Given the description of an element on the screen output the (x, y) to click on. 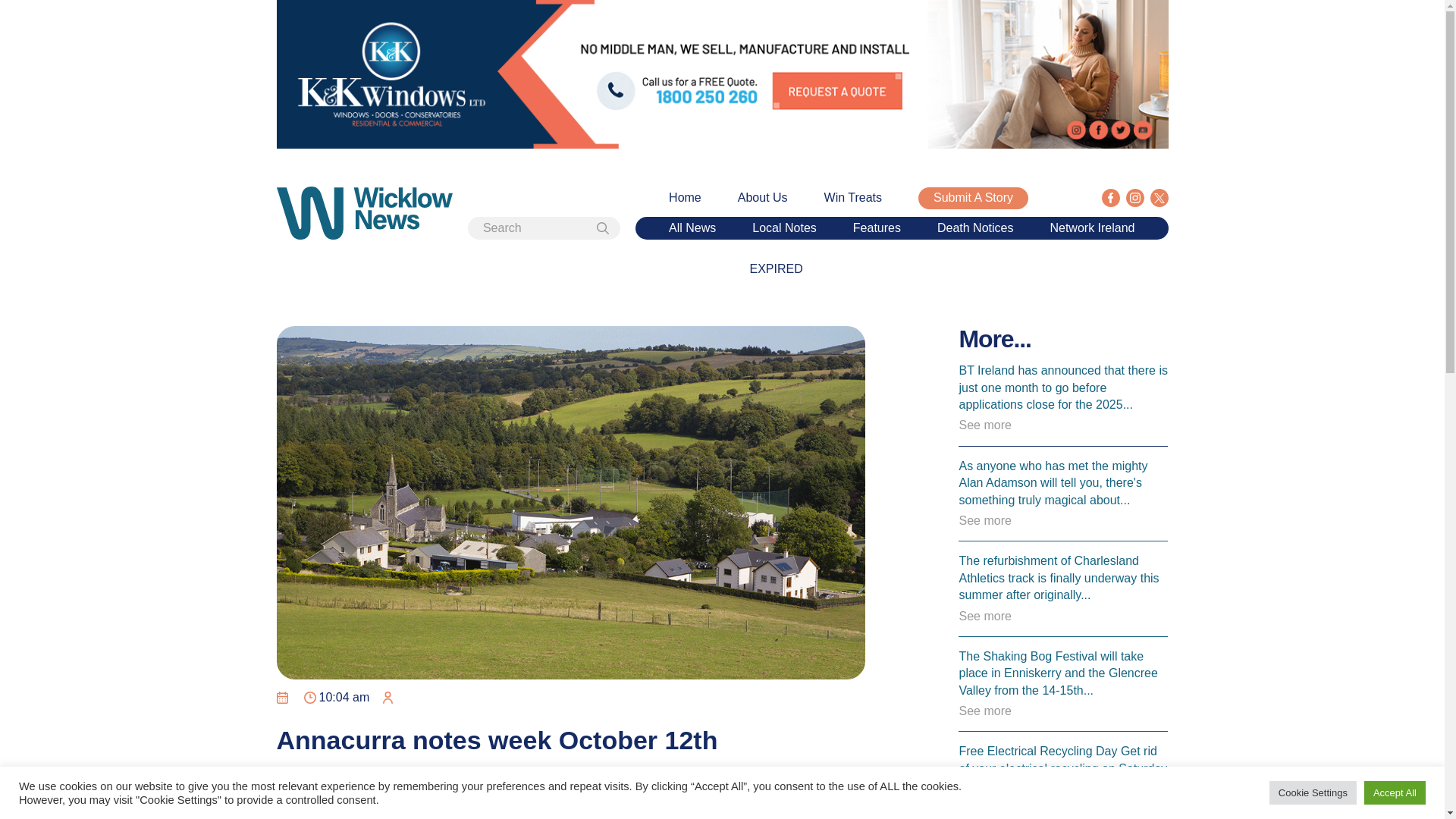
Features (876, 228)
Death Notices (975, 228)
Network Ireland (1091, 228)
About Us (762, 197)
Home (684, 197)
Win Treats (853, 197)
